Given the description of an element on the screen output the (x, y) to click on. 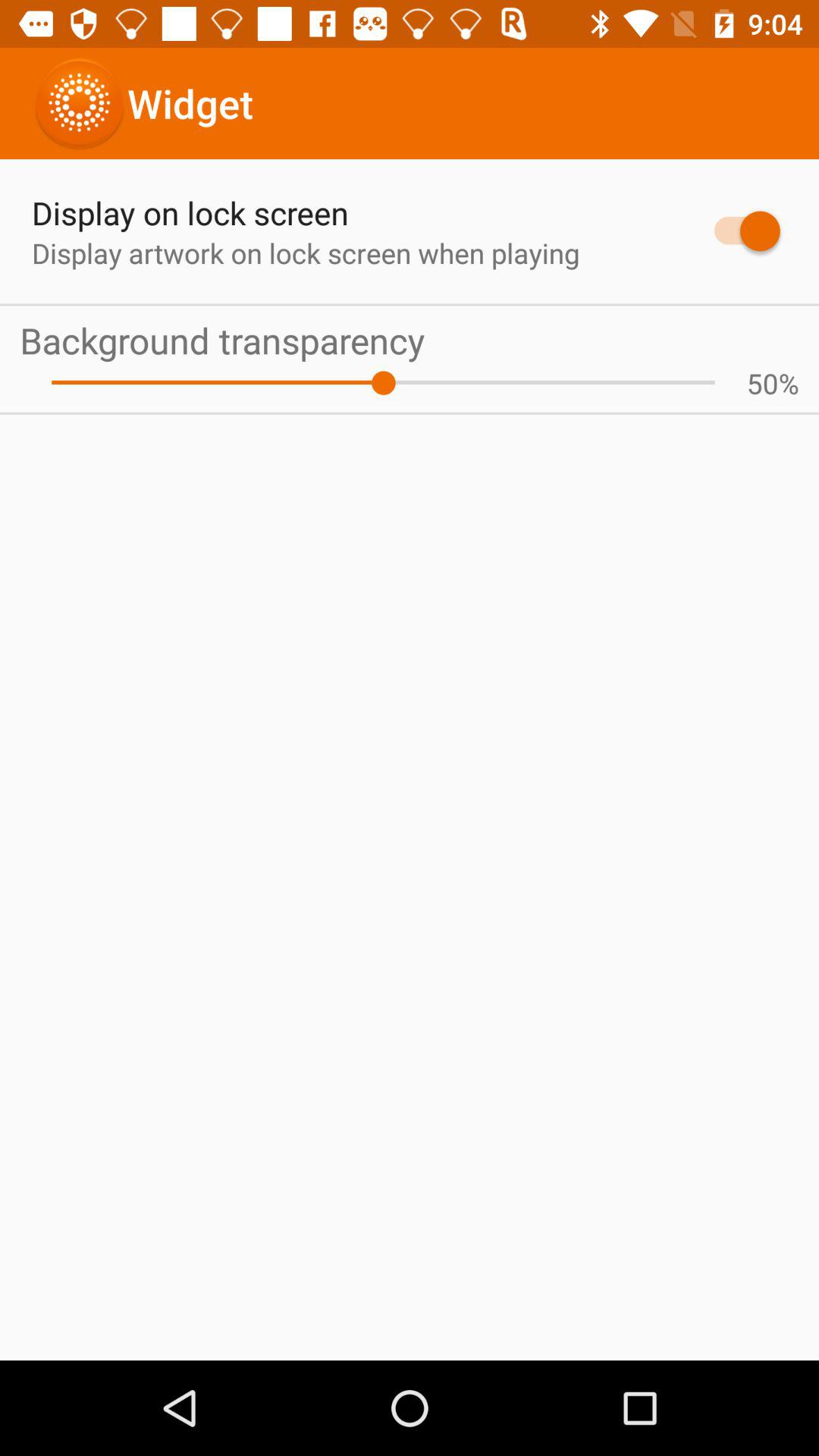
turn off icon next to the % item (762, 383)
